Given the description of an element on the screen output the (x, y) to click on. 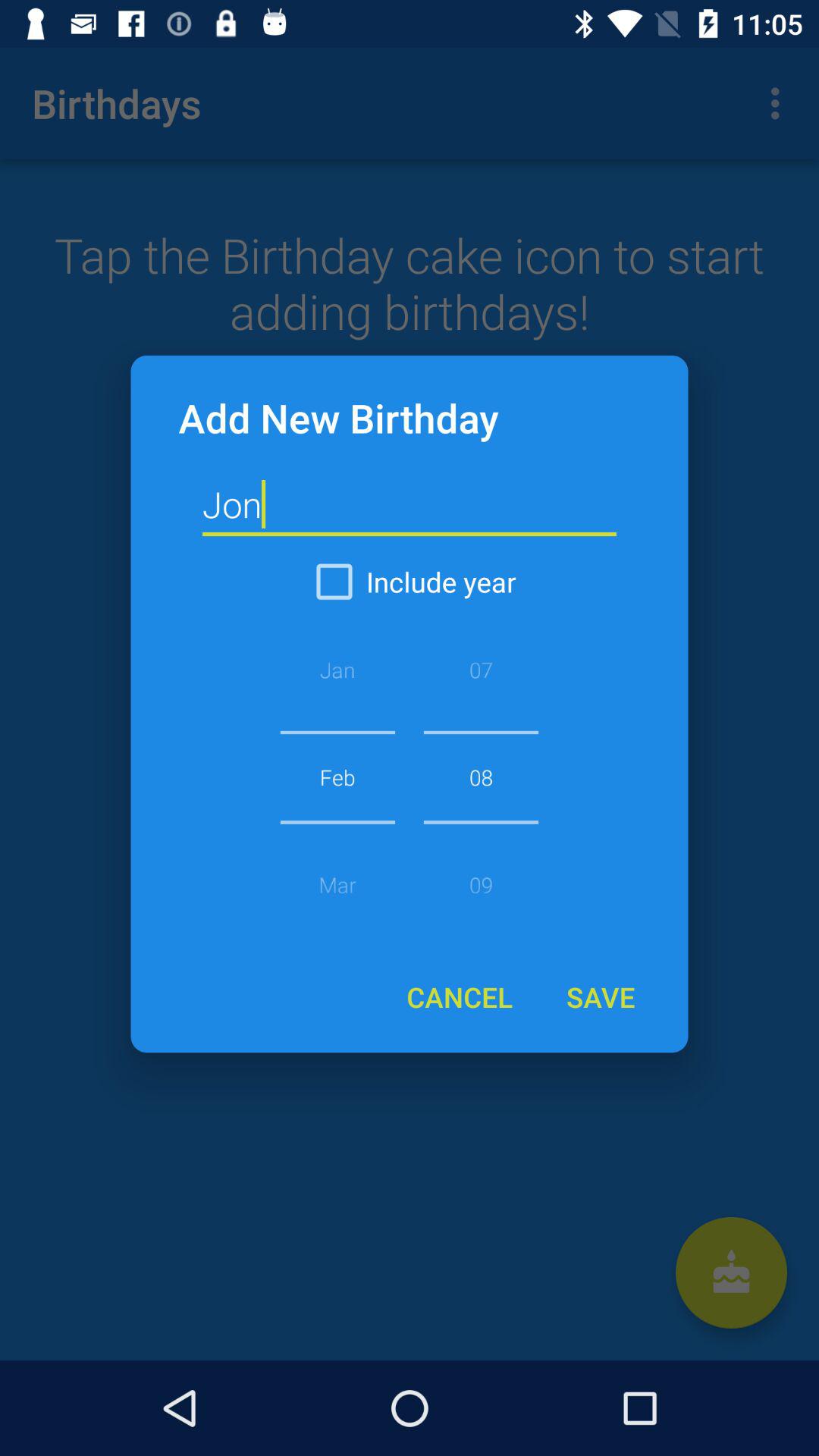
tap jon (409, 504)
